Given the description of an element on the screen output the (x, y) to click on. 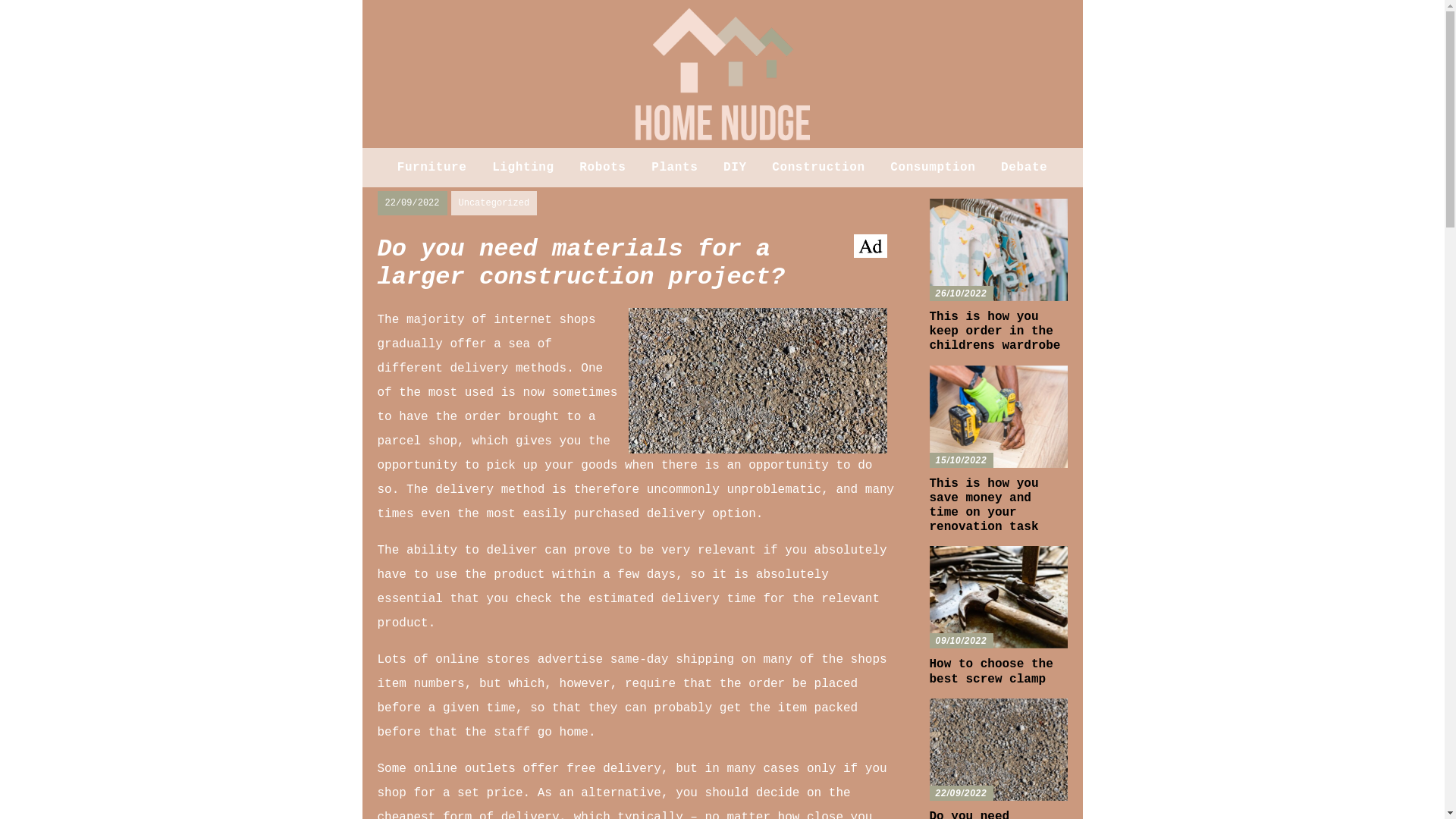
Debate (1023, 167)
Lighting (523, 167)
Consumption (932, 167)
Furniture (432, 167)
Robots (602, 167)
DIY (734, 167)
Construction (817, 167)
Plants (673, 167)
